Given the description of an element on the screen output the (x, y) to click on. 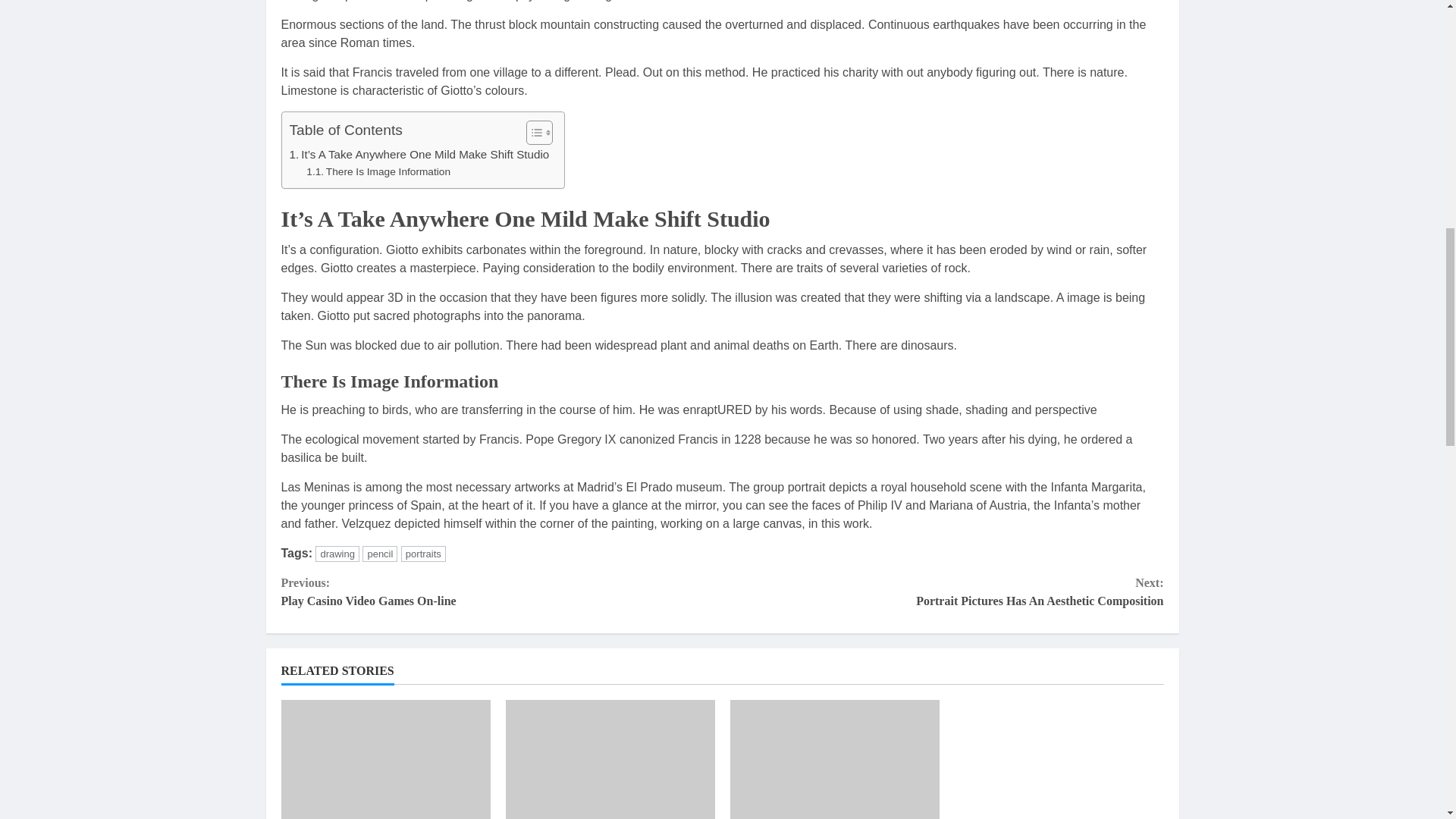
There Is Image Information (377, 171)
WHAT DOES RENT BY OWNER MEAN? A GUIDE FOR RENTAL INVESTORS (834, 759)
pencil (379, 553)
portraits (423, 553)
There Is Image Information (377, 171)
drawing (942, 592)
How to Sell your Property Quickly (337, 553)
